Given the description of an element on the screen output the (x, y) to click on. 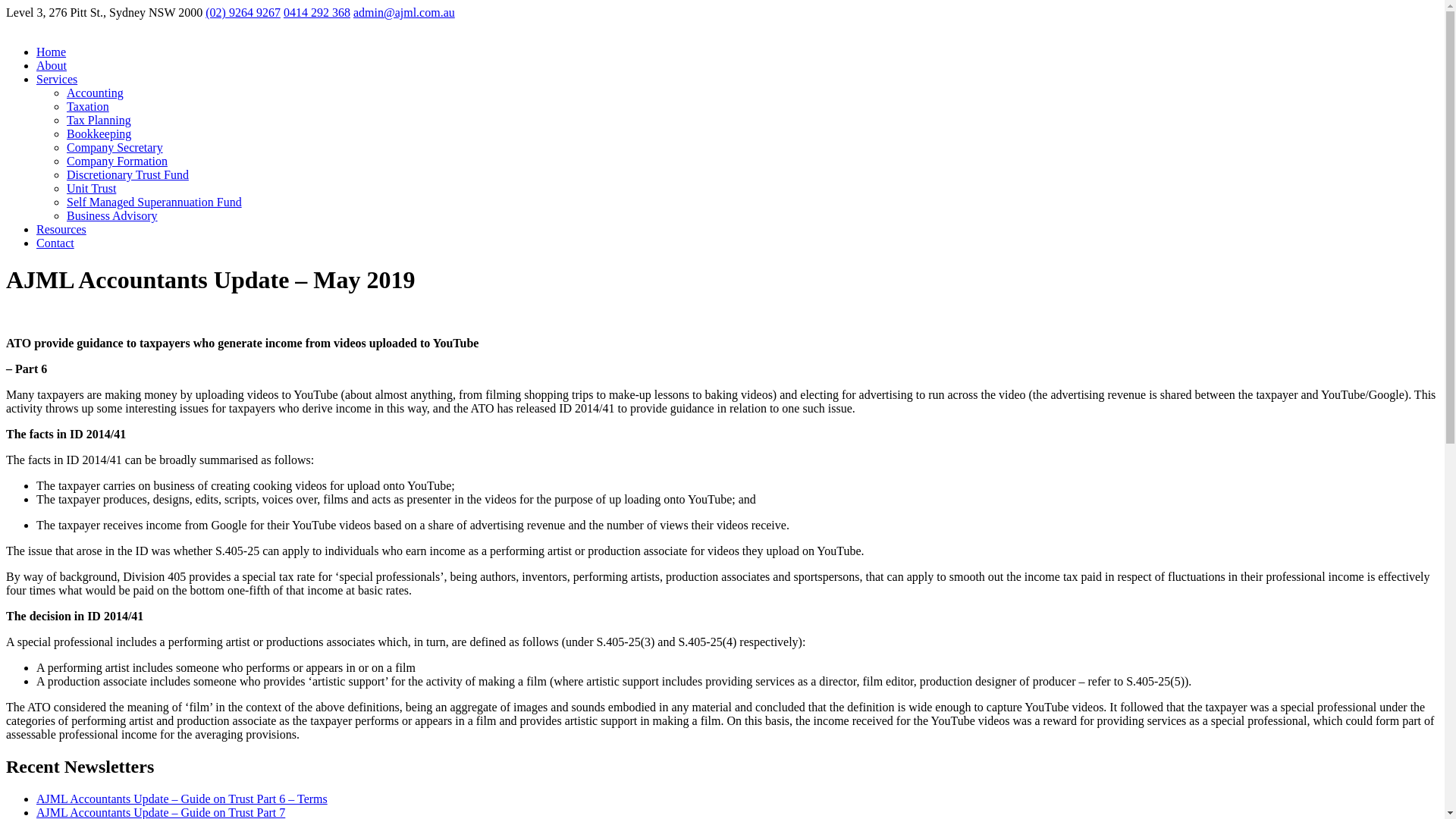
Business Advisory (111, 215)
About (51, 65)
Home (50, 51)
Accounting (94, 92)
0414 292 368 (316, 11)
Bookkeeping (98, 133)
Company Formation (116, 160)
Services (56, 78)
Discretionary Trust Fund (127, 174)
Taxation (87, 106)
Resources (60, 228)
Tax Planning (98, 119)
Company Secretary (114, 146)
Self Managed Superannuation Fund (153, 201)
Contact (55, 242)
